Given the description of an element on the screen output the (x, y) to click on. 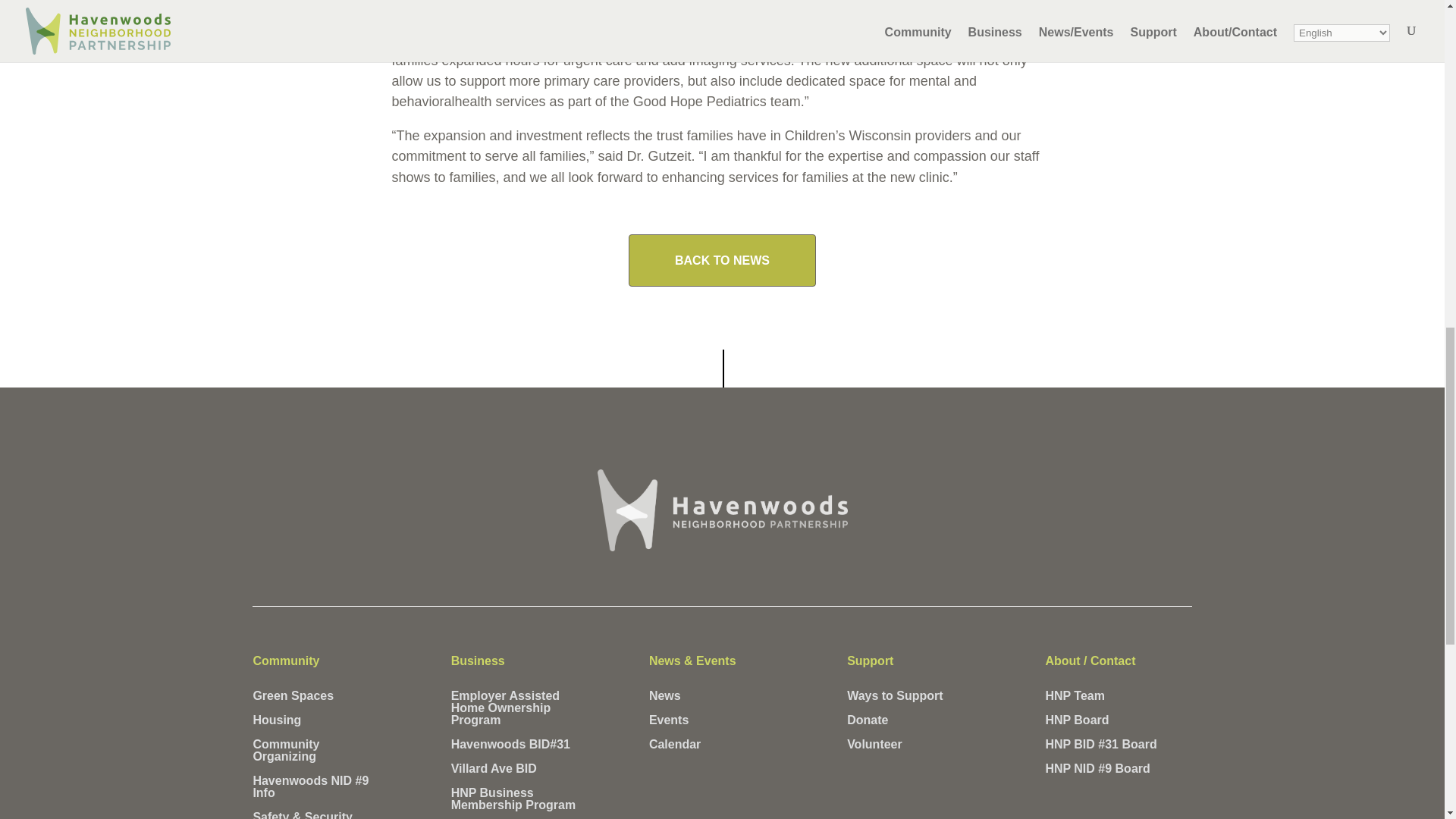
Havenwoods Footer Logo (721, 510)
